Given the description of an element on the screen output the (x, y) to click on. 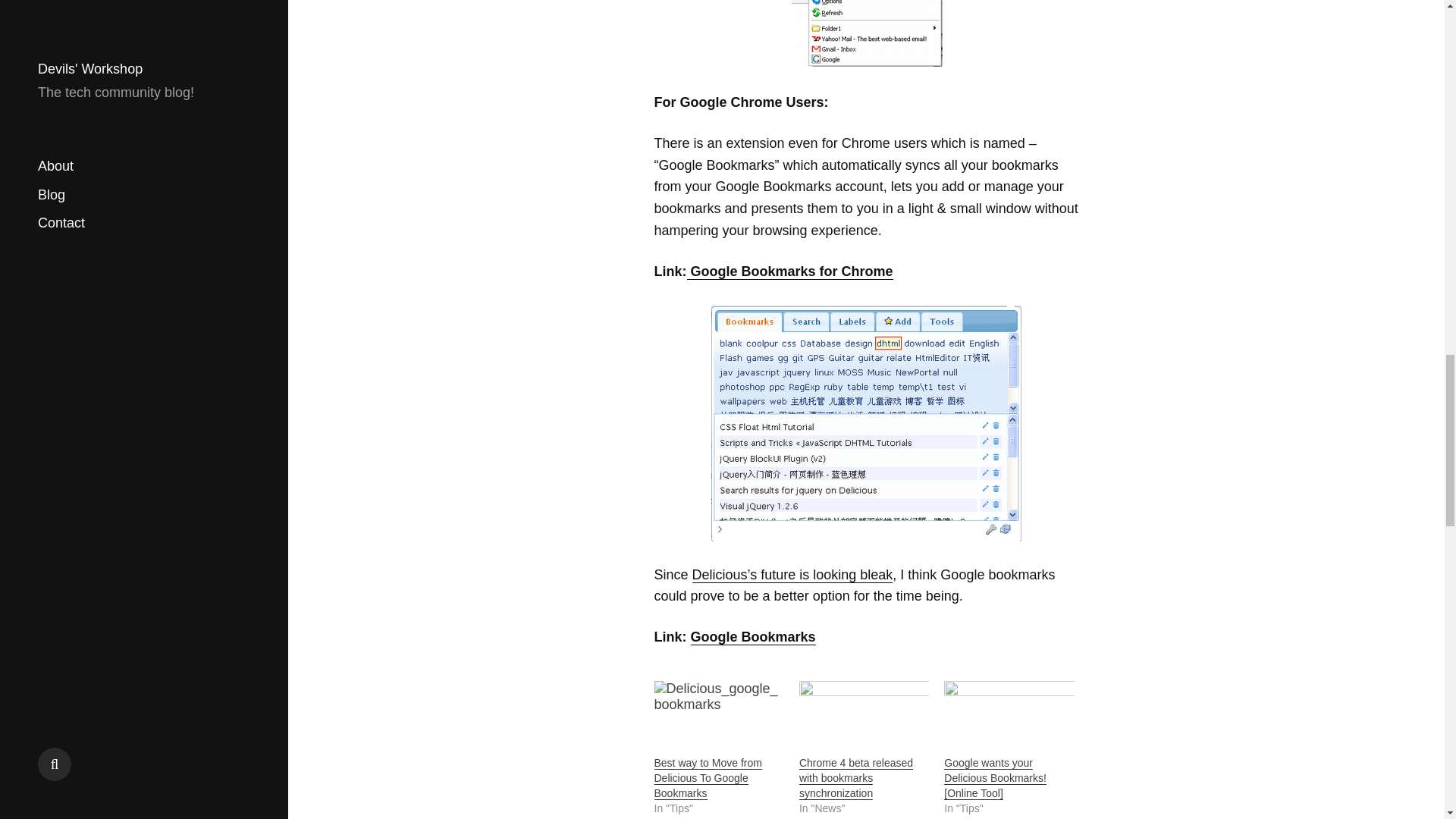
Best way to Move from Delicious To Google Bookmarks (707, 778)
Best way to Move from Delicious To Google Bookmarks (707, 778)
Google Bookmarks (752, 637)
Chrome 4 beta released with bookmarks synchronization (855, 778)
Google Bookmarks for Chrome (790, 271)
Google Bookmarks Menu (866, 34)
Google Bookmarks for Chrome (866, 423)
Chrome 4 beta released with bookmarks synchronization (863, 717)
Best way to Move from Delicious To Google Bookmarks (718, 717)
Chrome 4 beta released with bookmarks synchronization (855, 778)
